Given the description of an element on the screen output the (x, y) to click on. 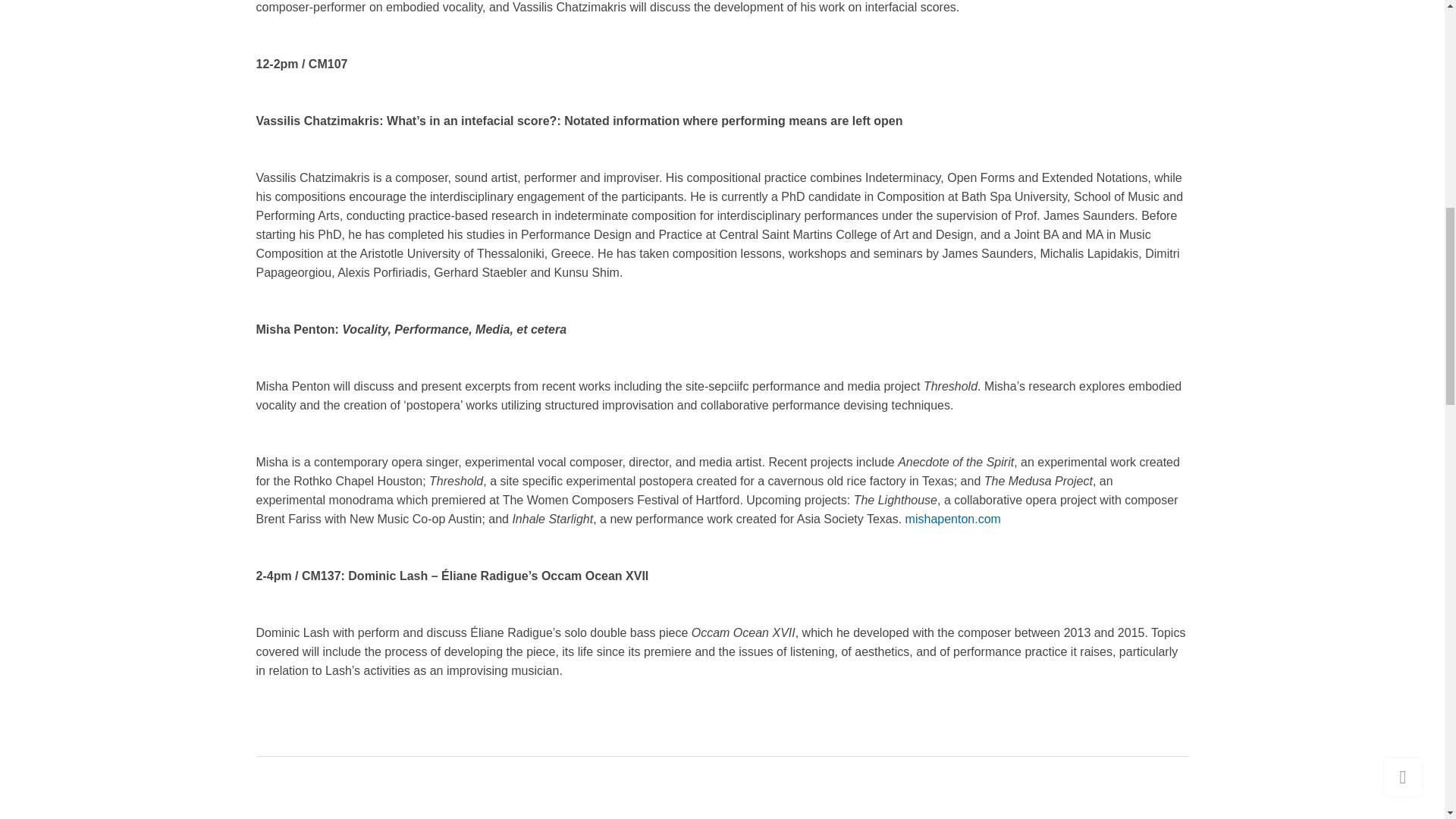
mishapenton.com (953, 518)
